Given the description of an element on the screen output the (x, y) to click on. 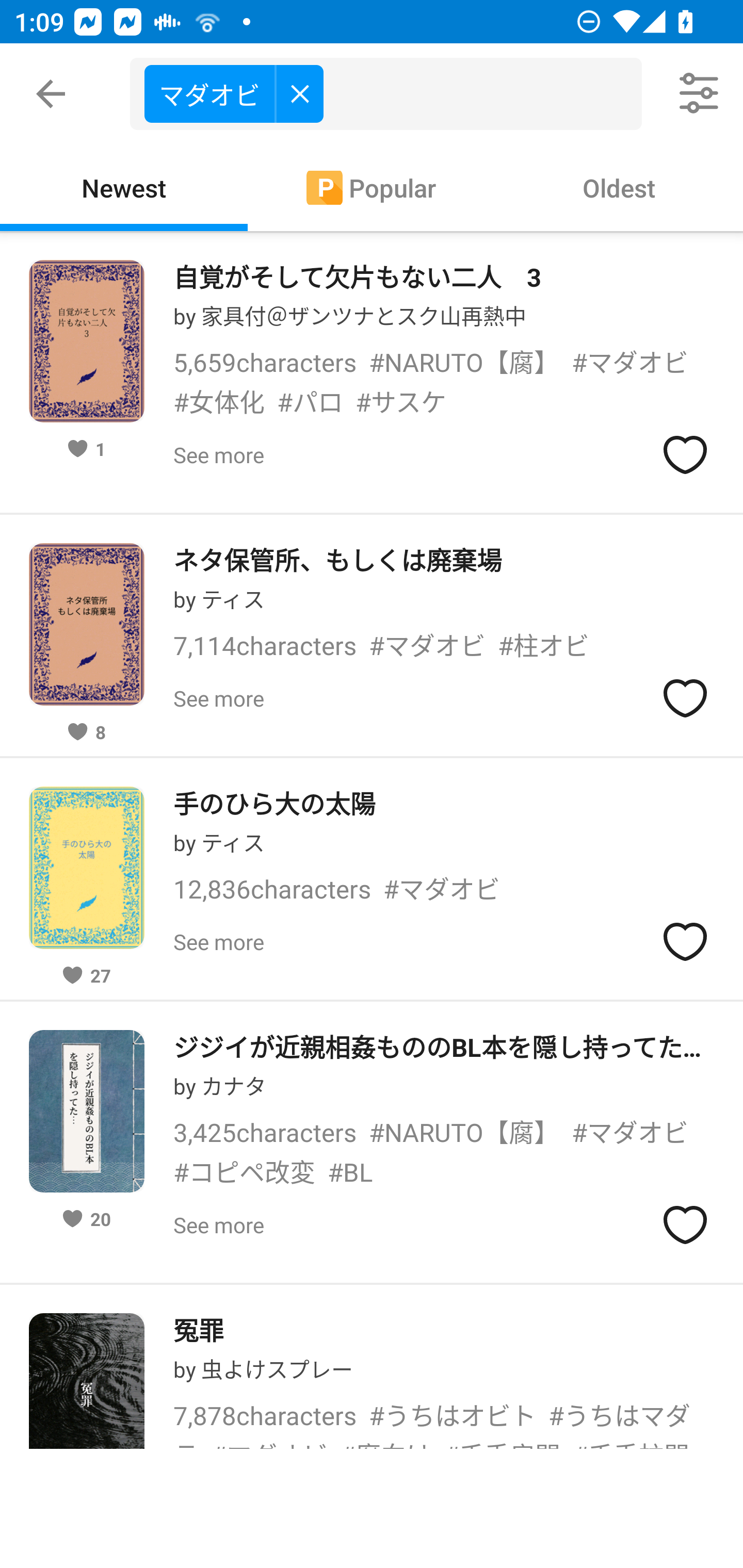
Navigate up (50, 93)
Filters (699, 93)
マダオビ (392, 94)
マダオビ (233, 93)
[P] Popular (371, 187)
Oldest (619, 187)
